Given the description of an element on the screen output the (x, y) to click on. 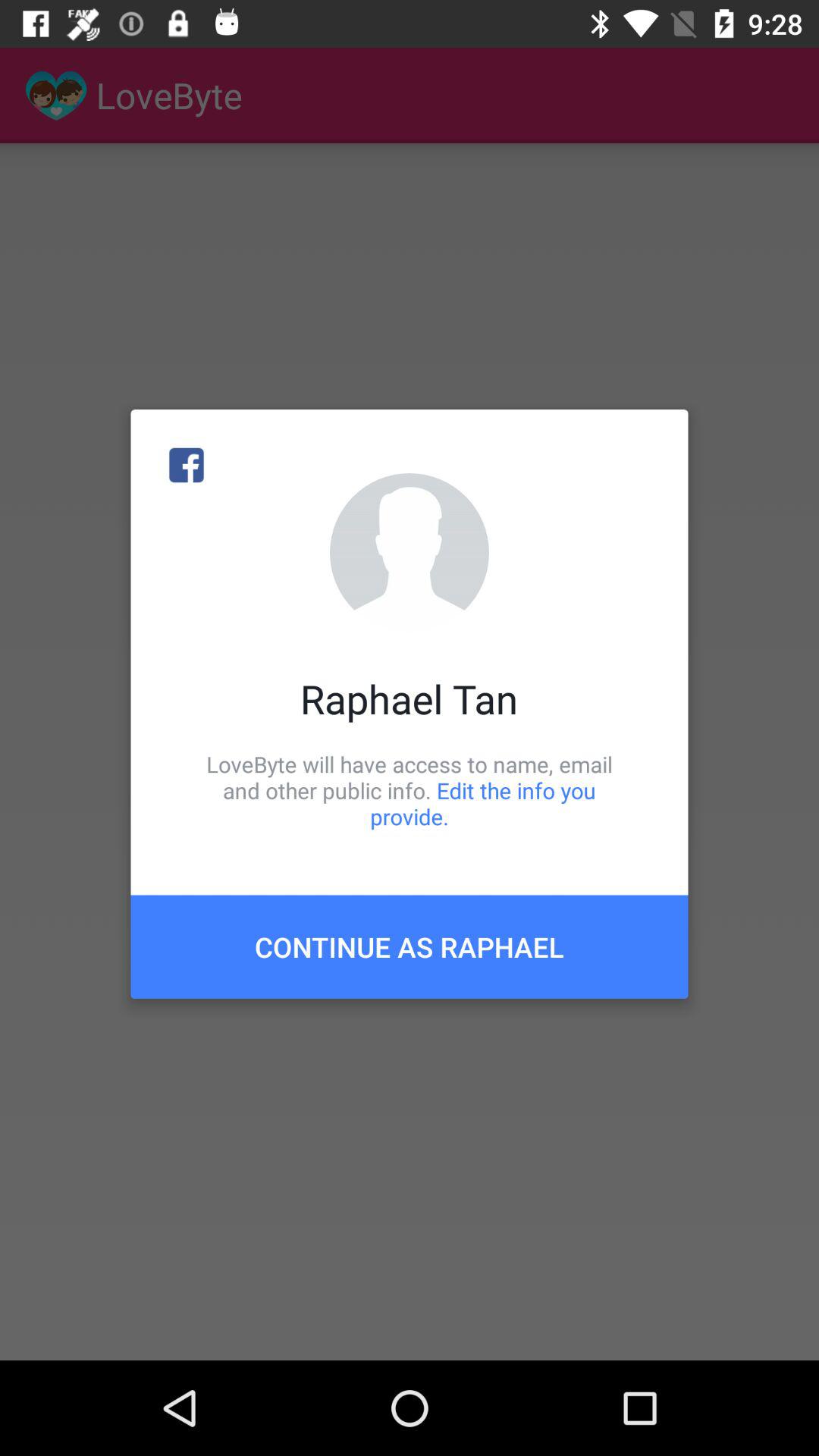
open the continue as raphael item (409, 946)
